Given the description of an element on the screen output the (x, y) to click on. 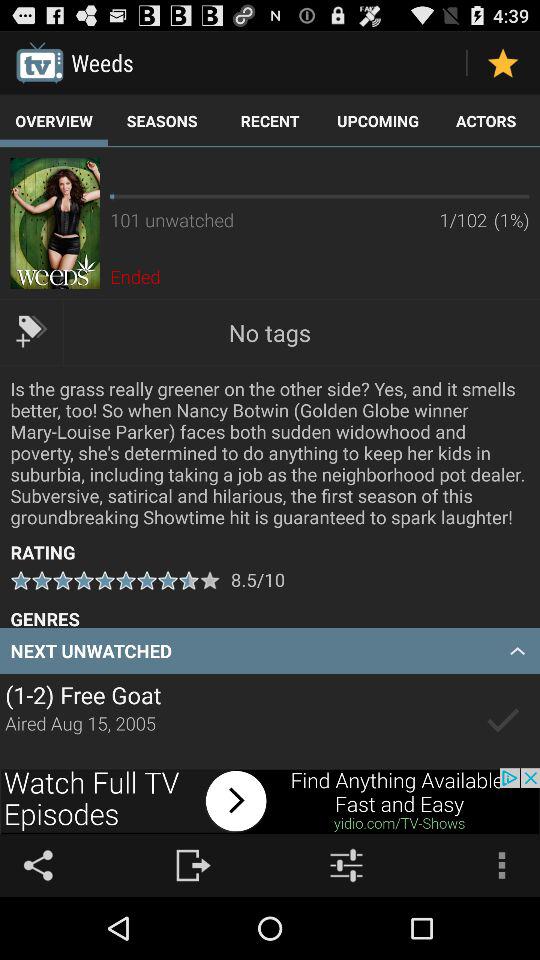
advertisement tags (31, 331)
